Given the description of an element on the screen output the (x, y) to click on. 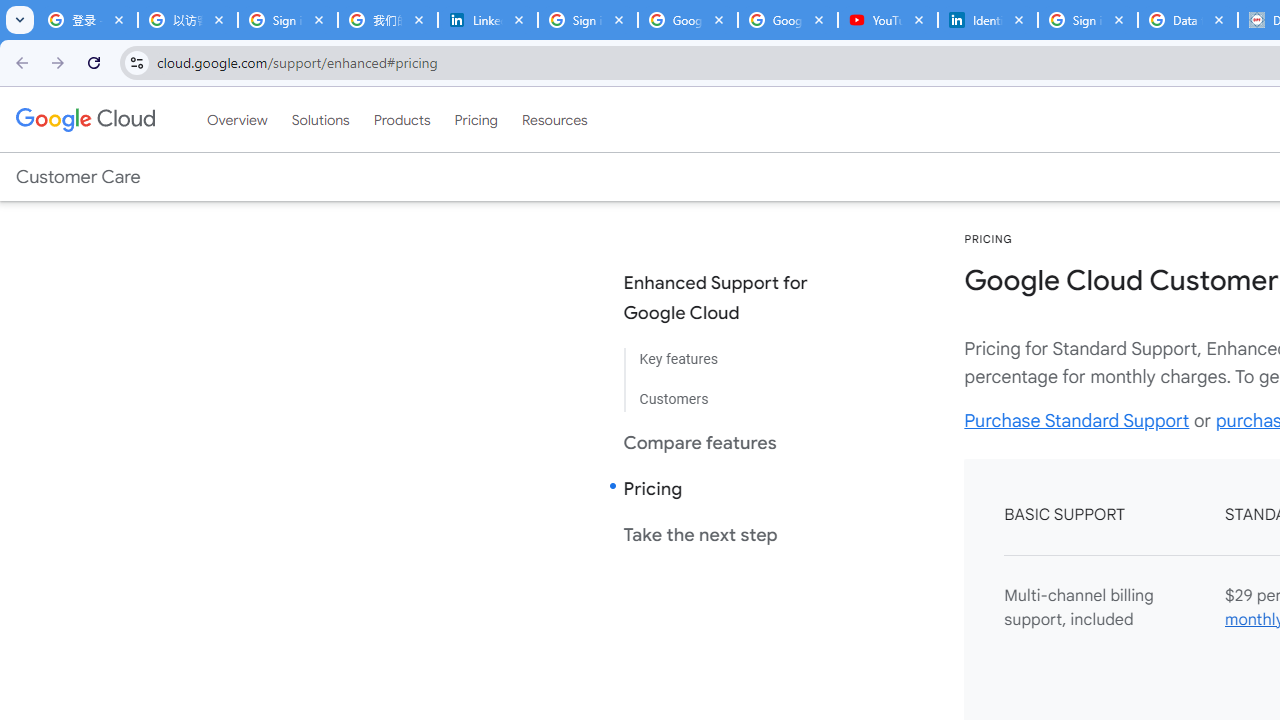
Purchase Standard Support (1076, 420)
